Given the description of an element on the screen output the (x, y) to click on. 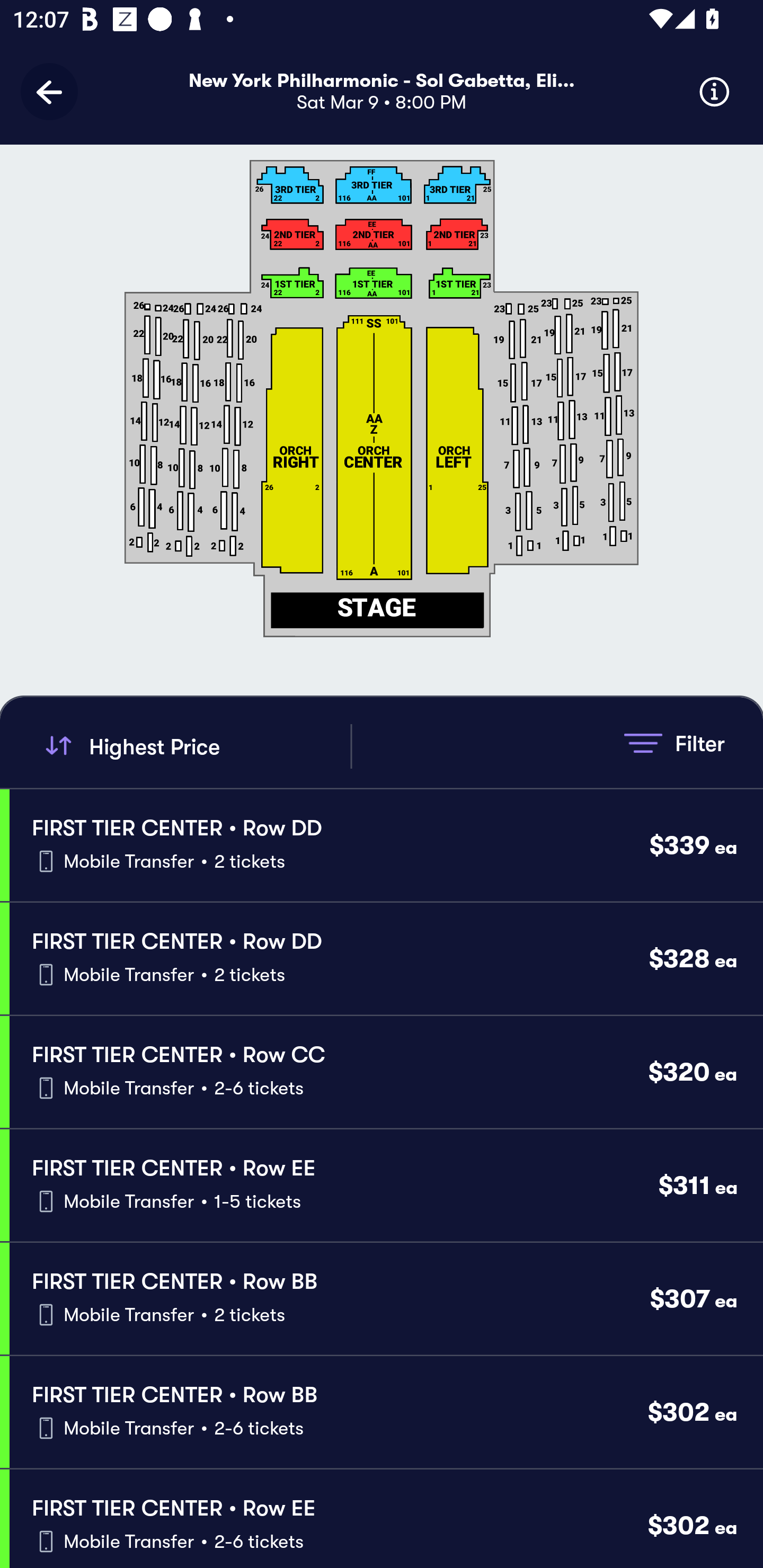
Highest Price (194, 746)
Filter (674, 743)
